Given the description of an element on the screen output the (x, y) to click on. 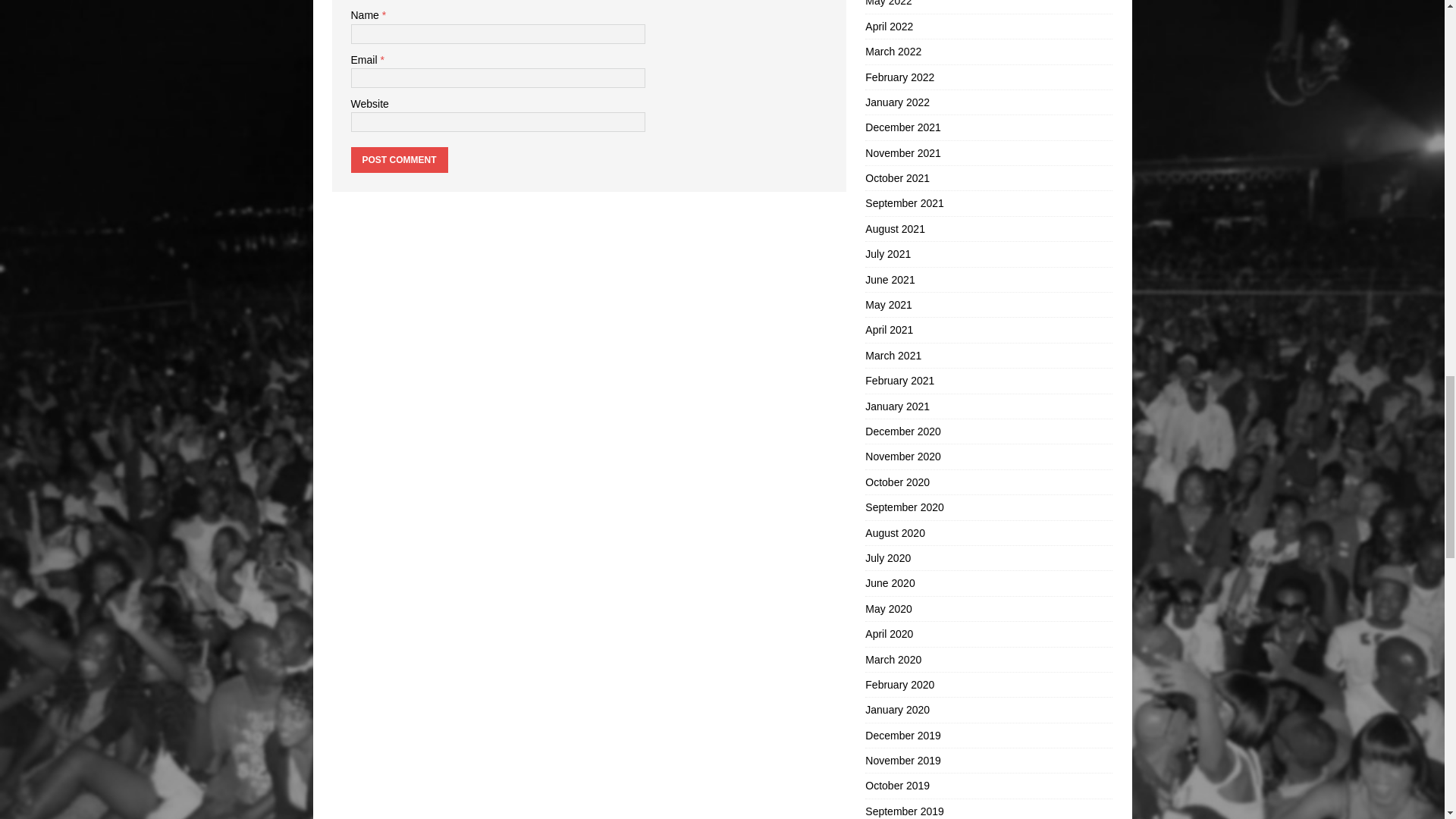
Post Comment (398, 159)
